Given the description of an element on the screen output the (x, y) to click on. 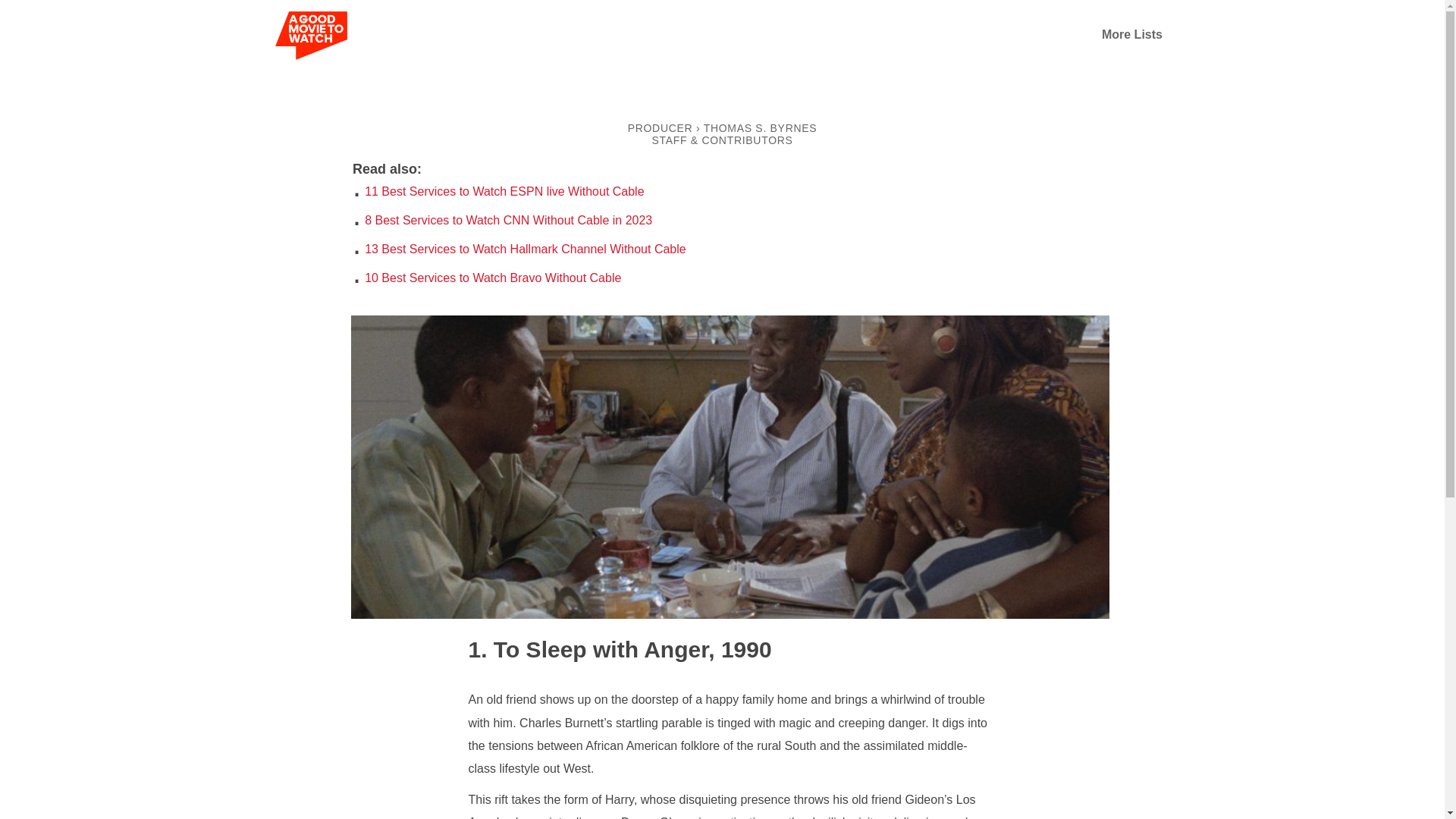
To Sleep with Anger (588, 649)
More Lists (1132, 34)
